Given the description of an element on the screen output the (x, y) to click on. 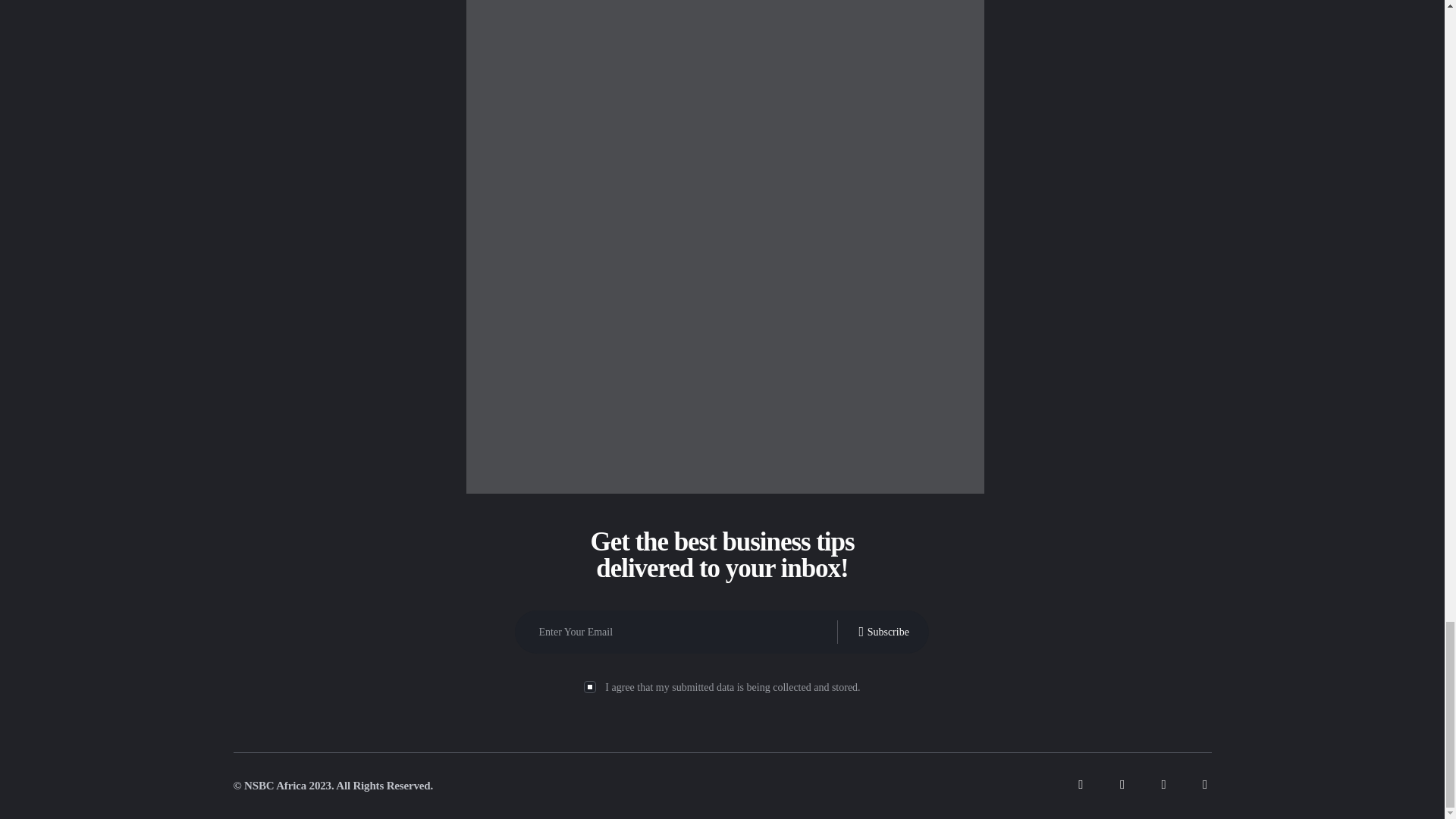
1 (588, 685)
